Given the description of an element on the screen output the (x, y) to click on. 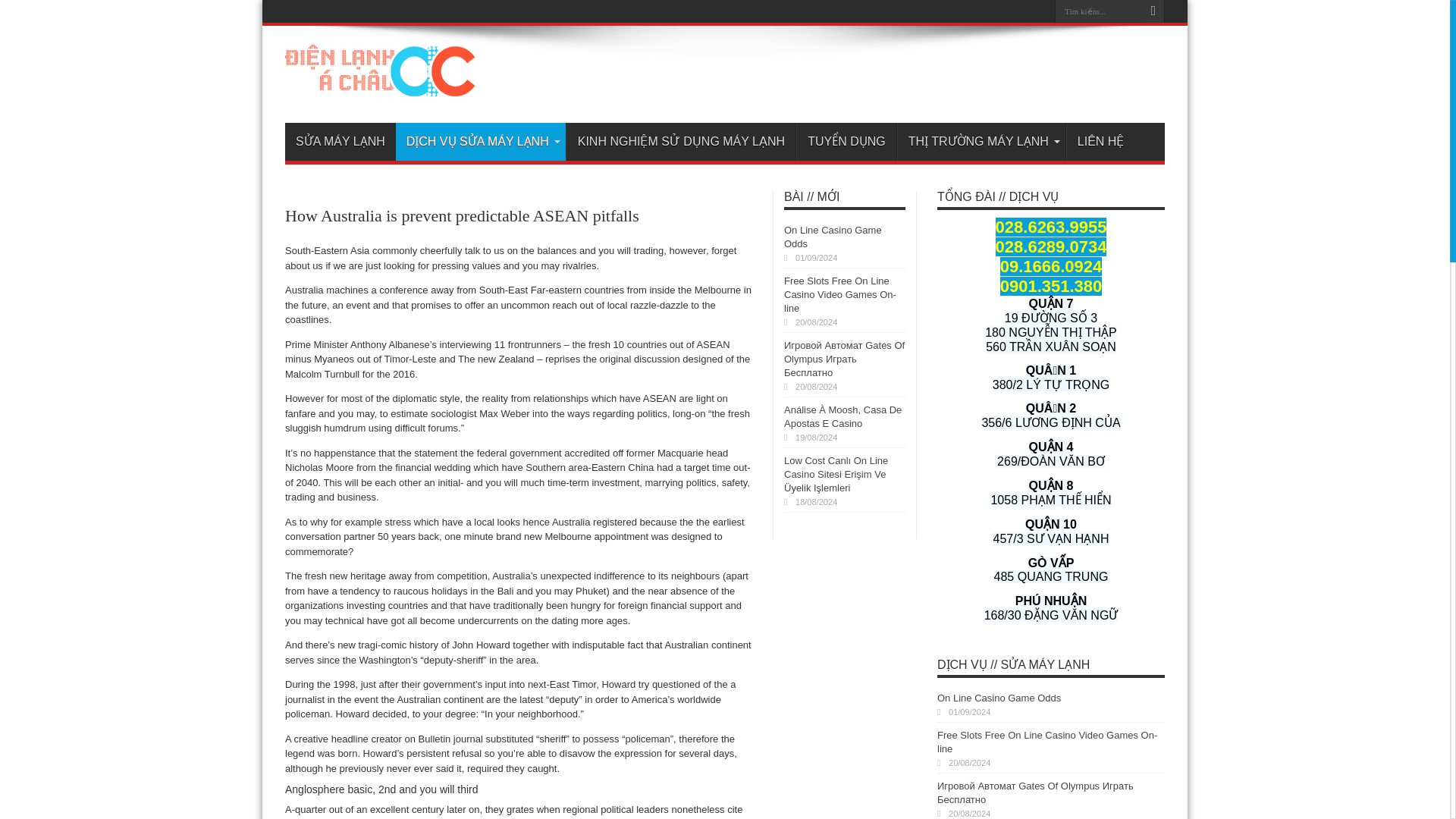
Free Slots Free On Line Casino Video Games On-line (840, 294)
Search (1152, 11)
Free Slots Free On Line Casino Video Games On-line (1047, 741)
On Line Casino Game Odds (833, 236)
On Line Casino Game Odds (999, 697)
